Given the description of an element on the screen output the (x, y) to click on. 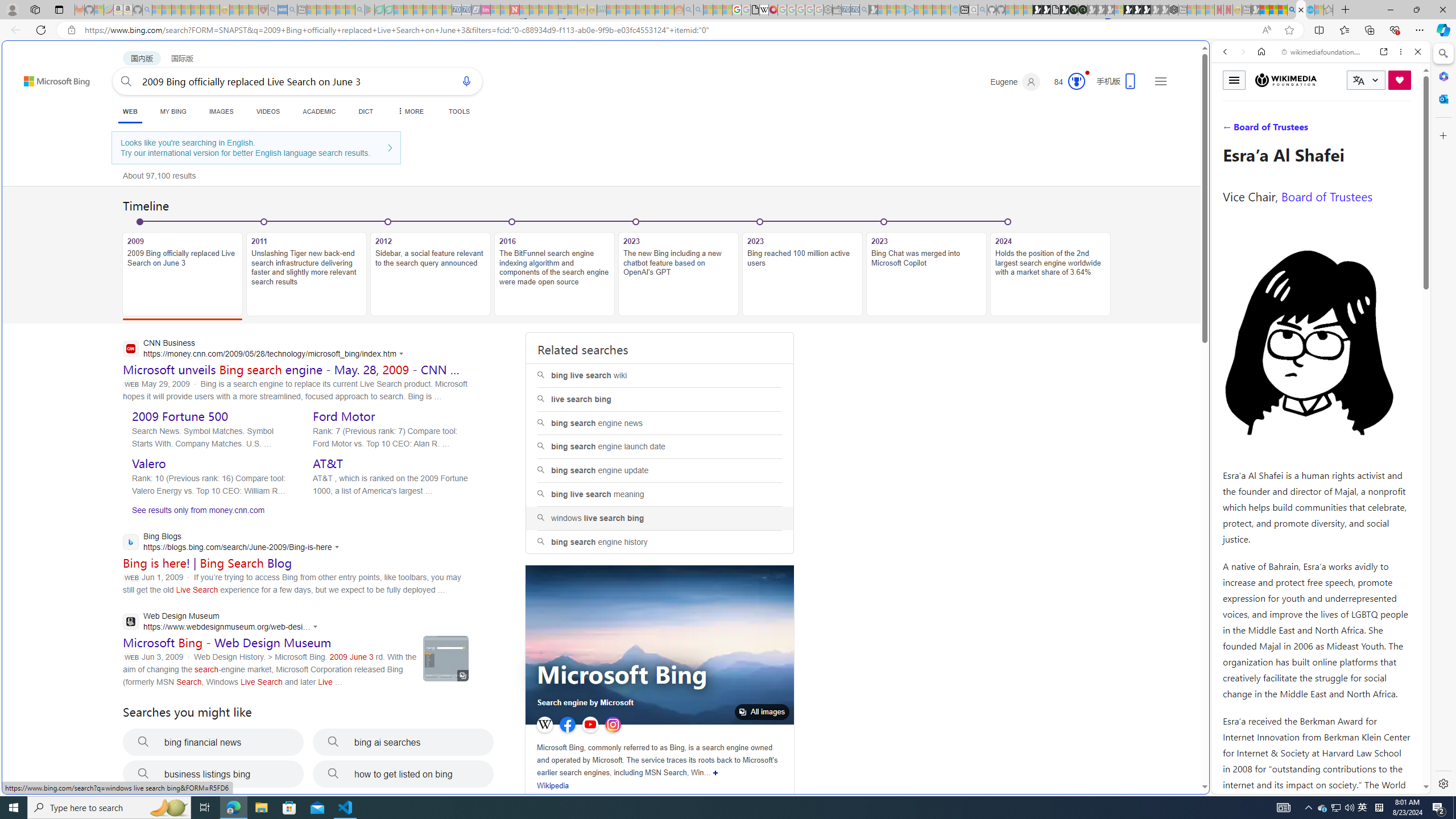
bing financial news (213, 741)
Class: i icon icon-translate language-switcher__icon (1358, 80)
Tabs you've opened (885, 151)
Search Filter, VIDEOS (1300, 129)
Bluey: Let's Play! - Apps on Google Play - Sleeping (369, 9)
This site scope (1259, 102)
bing live search wiki (659, 375)
Microsoft Bing (622, 676)
